Given the description of an element on the screen output the (x, y) to click on. 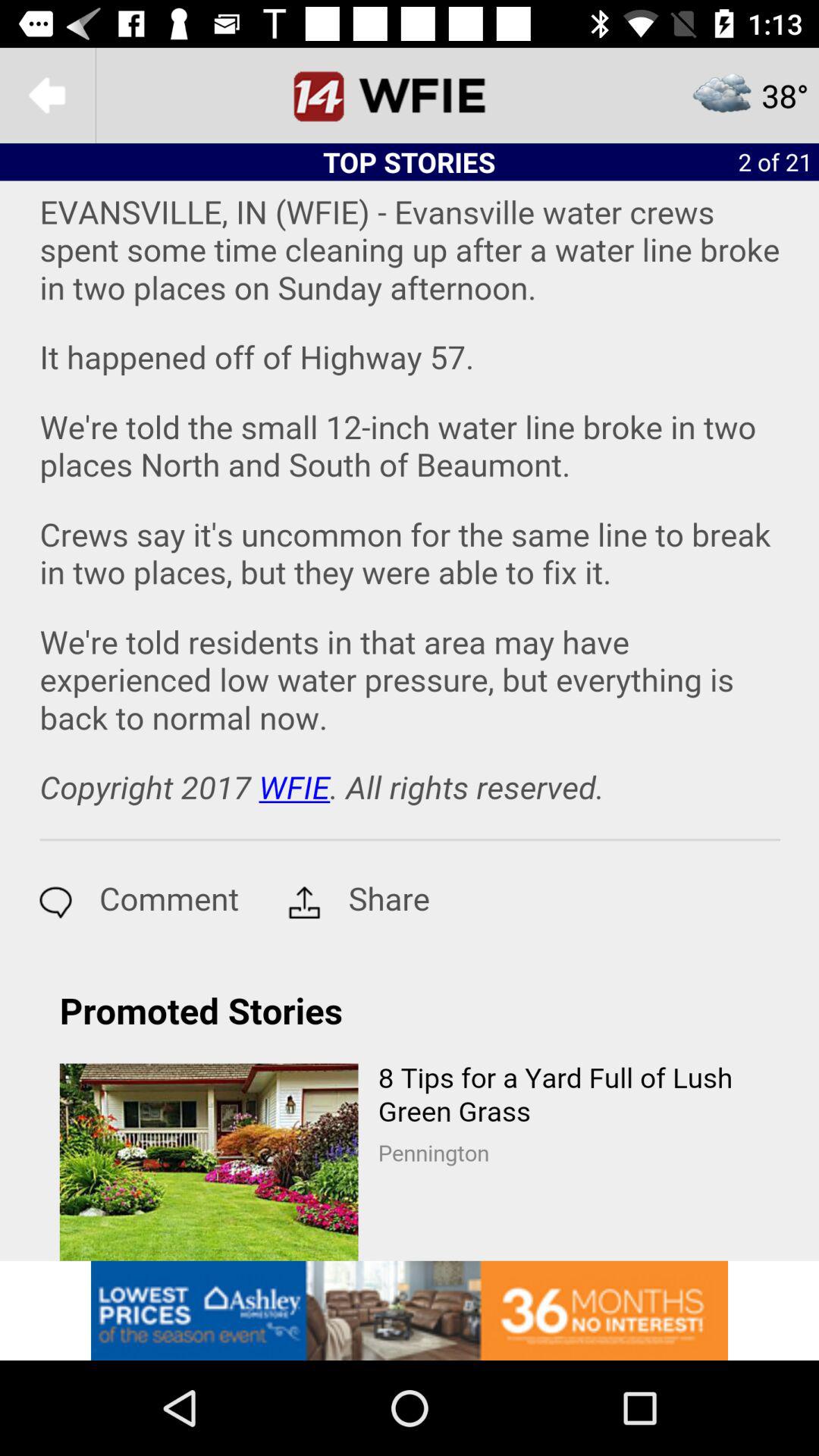
mark (409, 95)
